Given the description of an element on the screen output the (x, y) to click on. 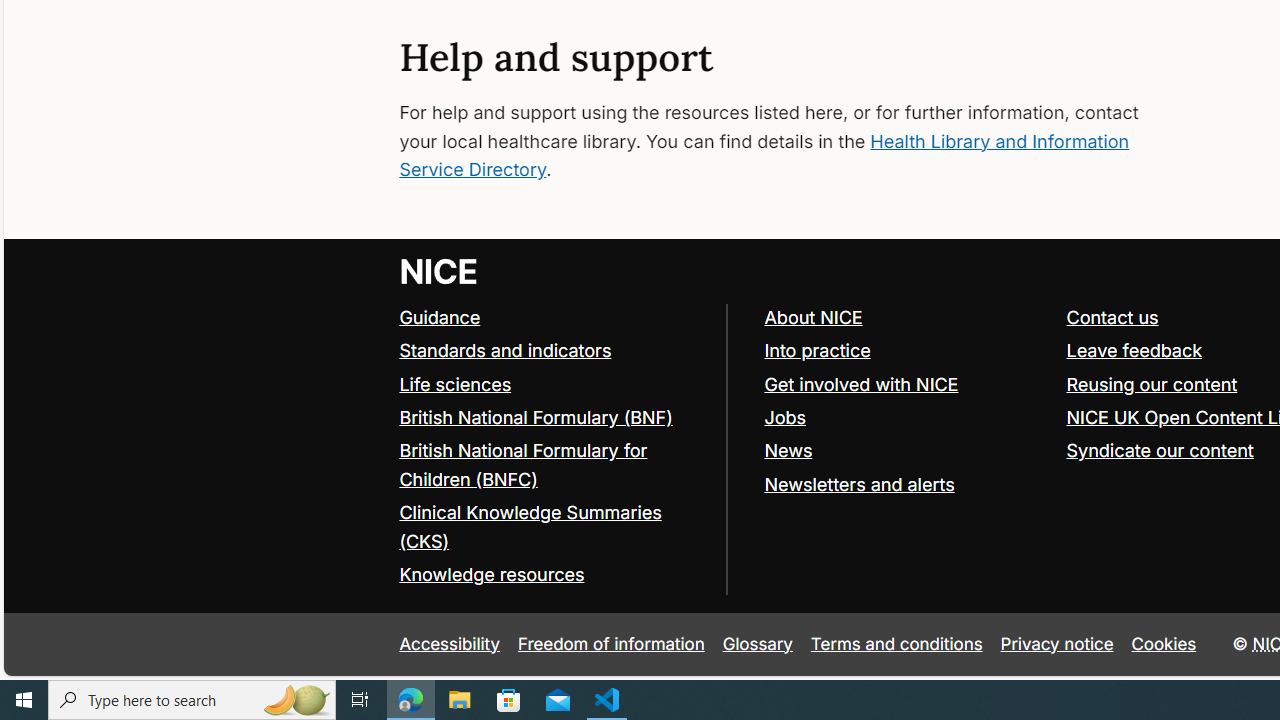
Guidance (554, 318)
News (788, 450)
Life sciences (455, 383)
Into practice (906, 351)
Into practice (817, 350)
British National Formulary for Children (BNFC) (554, 466)
Newsletters and alerts (859, 484)
News (906, 452)
Guidance (440, 317)
Cookies (1163, 644)
About NICE (906, 318)
Contact us (1112, 317)
Leave feedback (1134, 350)
About NICE (813, 317)
